Given the description of an element on the screen output the (x, y) to click on. 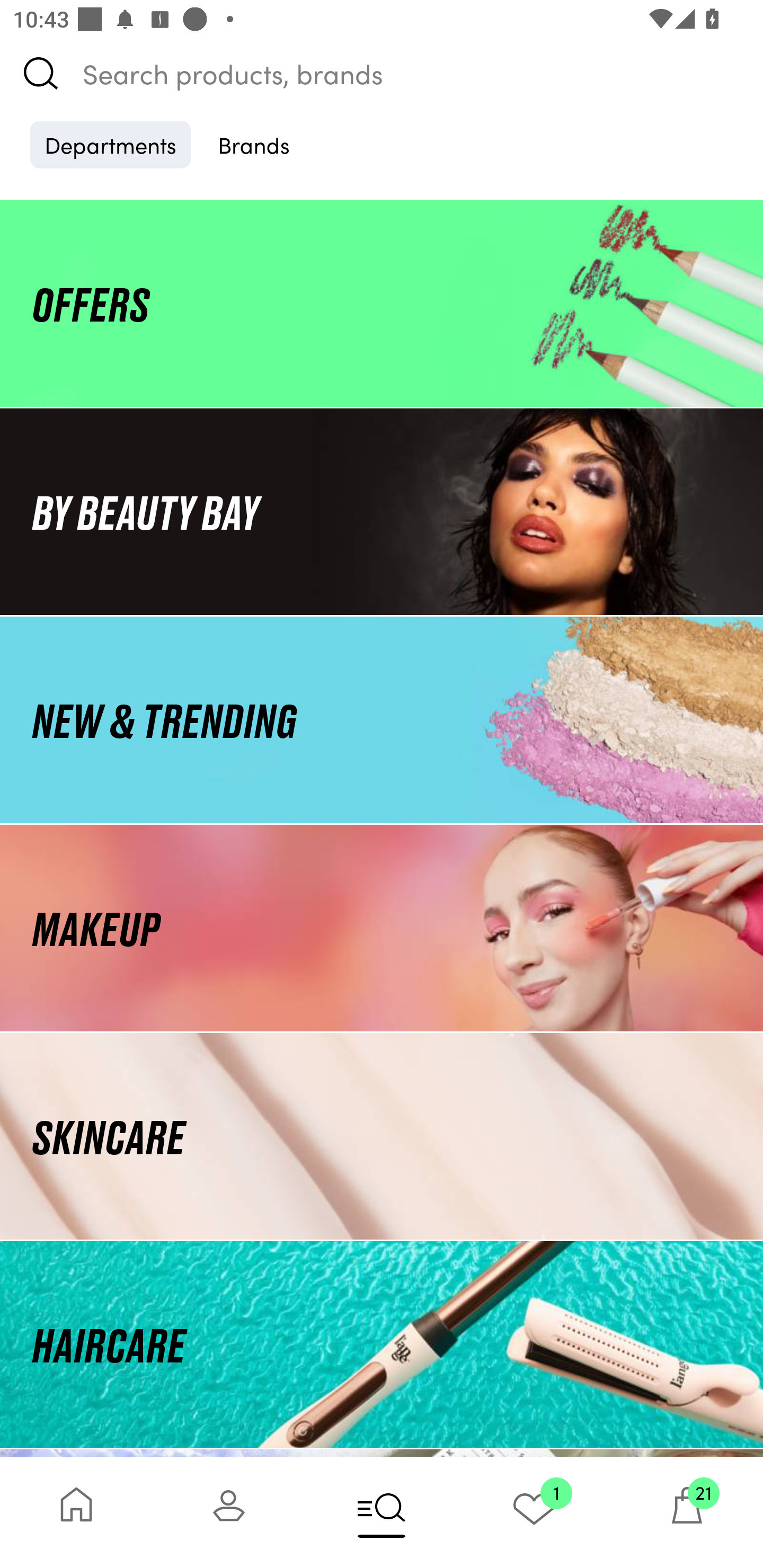
Search products, brands (381, 72)
Departments (110, 143)
Brands (253, 143)
OFFERS (381, 303)
BY BEAUTY BAY (381, 510)
NEW & TRENDING (381, 719)
MAKEUP (381, 927)
SKINCARE (381, 1136)
HAIRCARE (381, 1344)
1 (533, 1512)
21 (686, 1512)
